Given the description of an element on the screen output the (x, y) to click on. 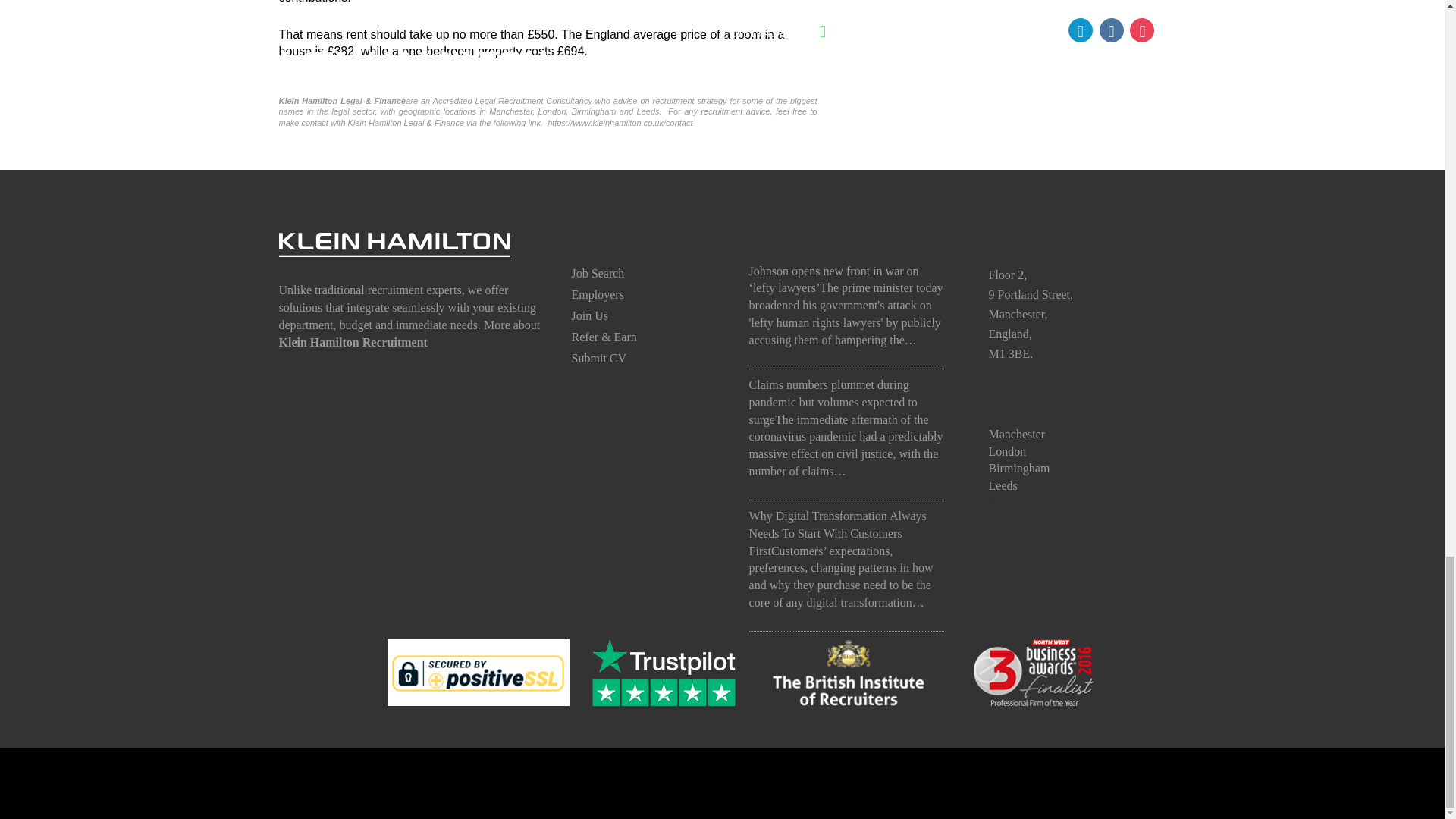
Birmingham (1018, 468)
Legal Recruitment Consultancy (532, 100)
Employers (598, 294)
Leeds (1002, 485)
Klein Hamilton Recruitment (353, 341)
London (1007, 451)
Job Search (598, 273)
Manchester (1016, 433)
Join Us (590, 315)
Submit CV (599, 358)
